Given the description of an element on the screen output the (x, y) to click on. 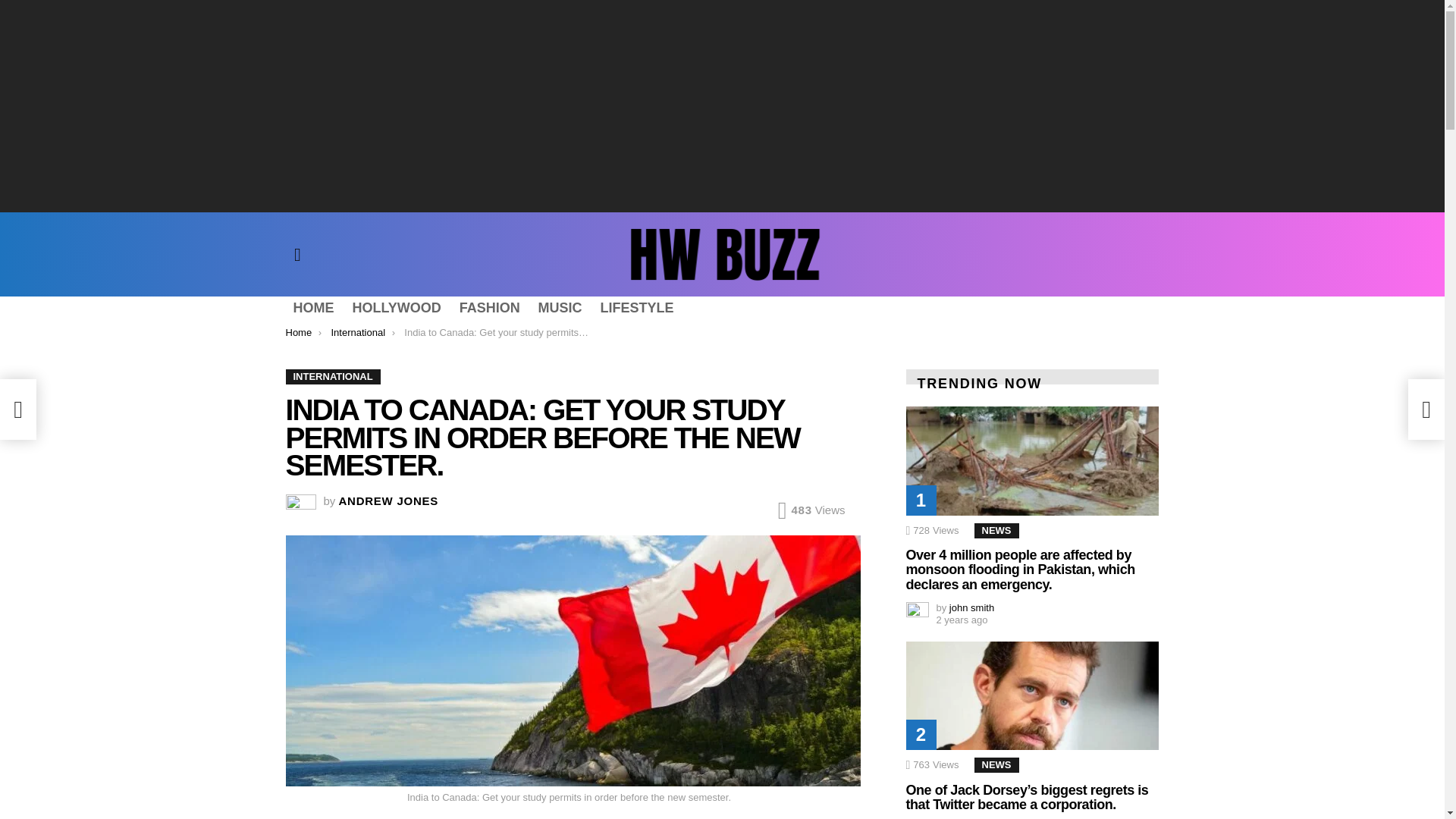
ANDREW JONES (389, 500)
INTERNATIONAL (332, 376)
MUSIC (560, 307)
Posts by Andrew Jones (389, 500)
Menu (296, 254)
FASHION (489, 307)
International (357, 332)
LIFESTYLE (636, 307)
HOLLYWOOD (395, 307)
Home (298, 332)
HOME (312, 307)
